Given the description of an element on the screen output the (x, y) to click on. 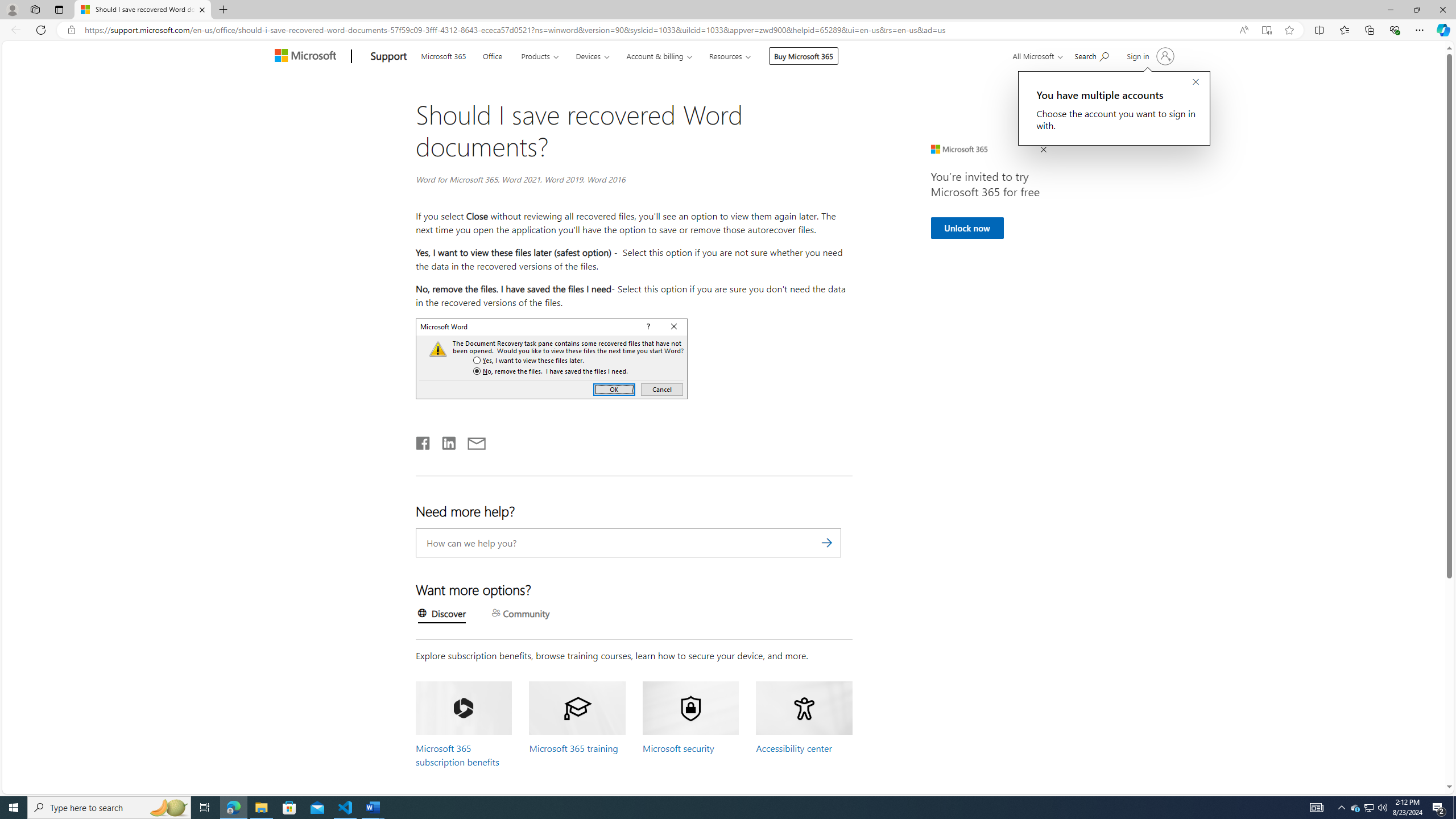
Share on Facebook (423, 441)
Copilot (Ctrl+Shift+.) (1442, 29)
Email (476, 441)
Enter Immersive Reader (F9) (1266, 29)
How can we help you? (628, 542)
Unlock now (966, 228)
Restore (1416, 9)
Personal Profile (12, 9)
Office (492, 54)
Accessibility center (793, 748)
Close callout prompt. (1195, 82)
Buy Microsoft 365 (803, 55)
